Given the description of an element on the screen output the (x, y) to click on. 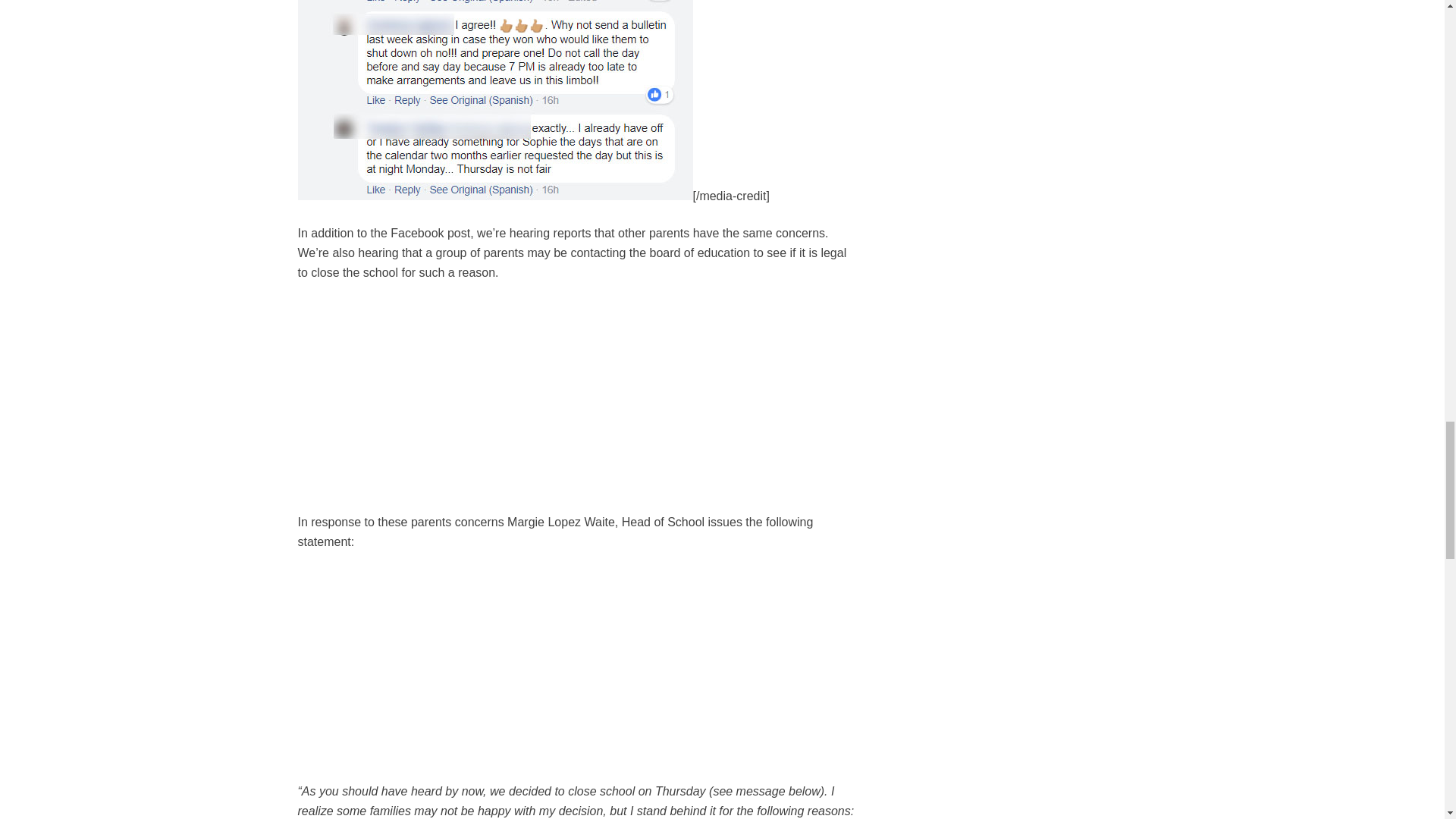
Advertisement (575, 406)
Advertisement (575, 675)
